Given the description of an element on the screen output the (x, y) to click on. 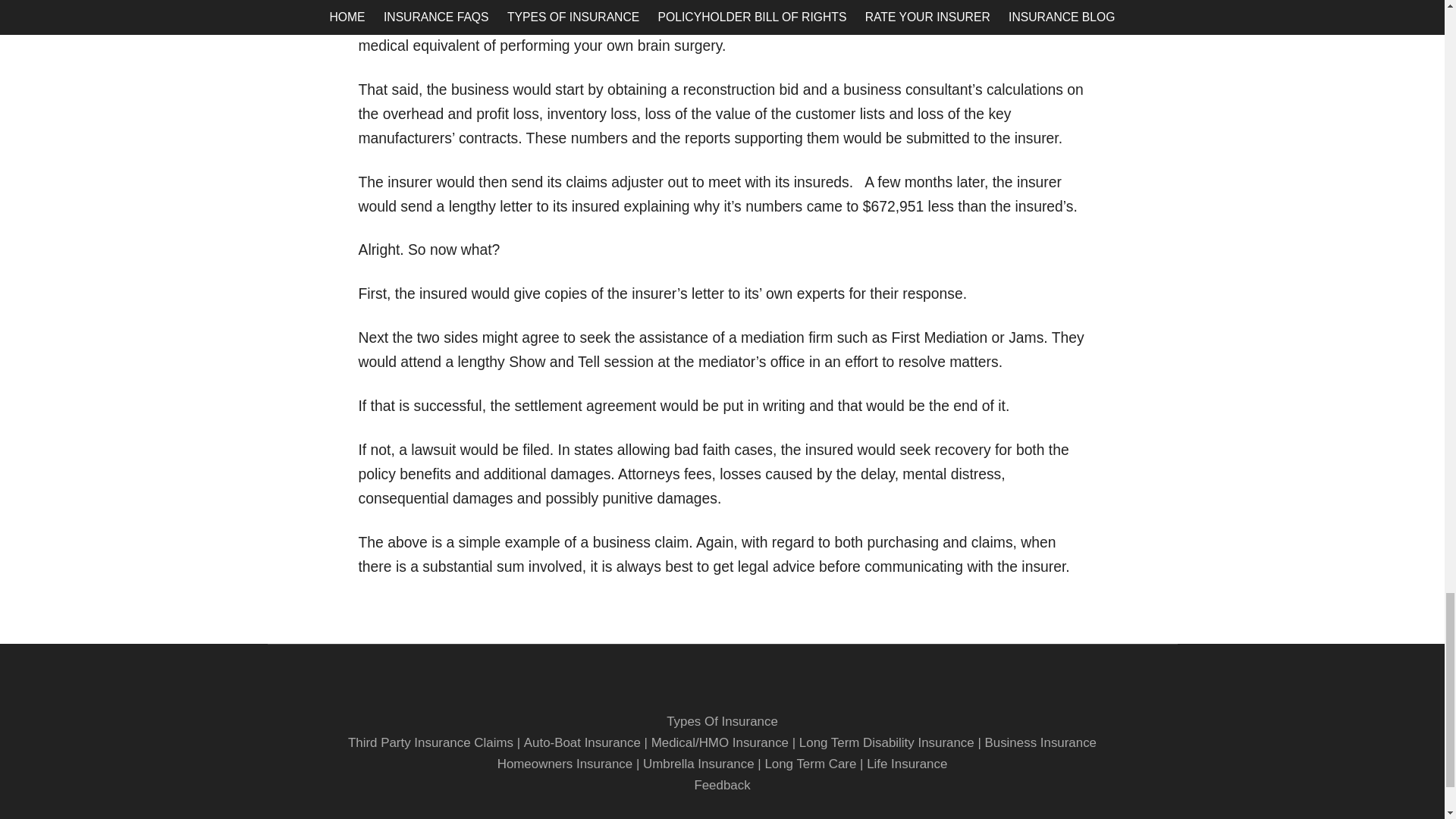
Business Insurance (1040, 742)
Umbrella Insurance (698, 763)
Long Term Disability Insurance (886, 742)
Life Insurance (906, 763)
Long Term Care (810, 763)
Feedback (721, 785)
Homeowners Insurance (565, 763)
Third Party Insurance Claims (430, 742)
Auto-Boat Insurance (582, 742)
Types Of Insurance (721, 721)
